Given the description of an element on the screen output the (x, y) to click on. 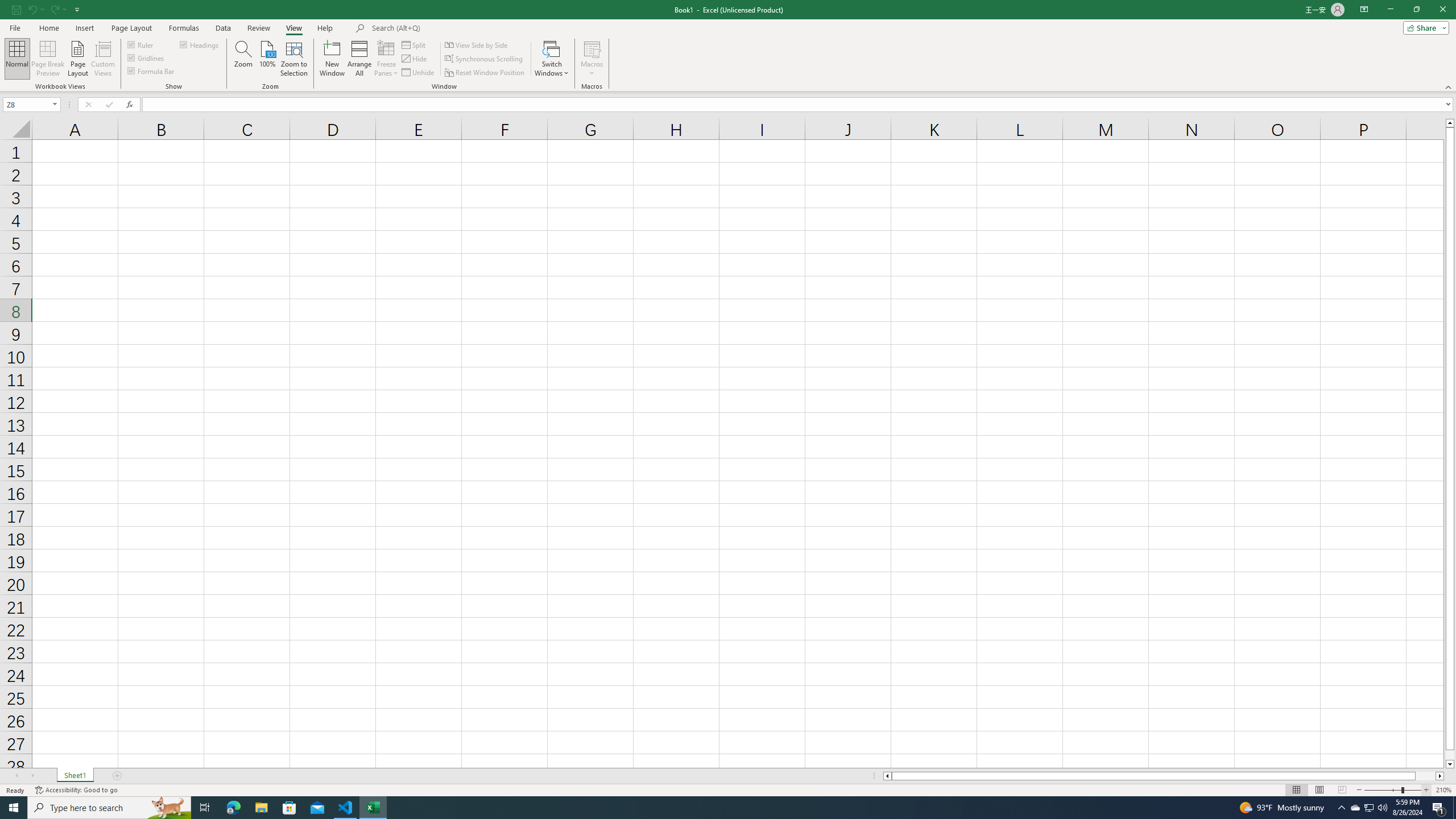
Gridlines (146, 56)
Ruler (141, 44)
100% (266, 58)
View Side by Side (476, 44)
Synchronous Scrolling (484, 58)
